Given the description of an element on the screen output the (x, y) to click on. 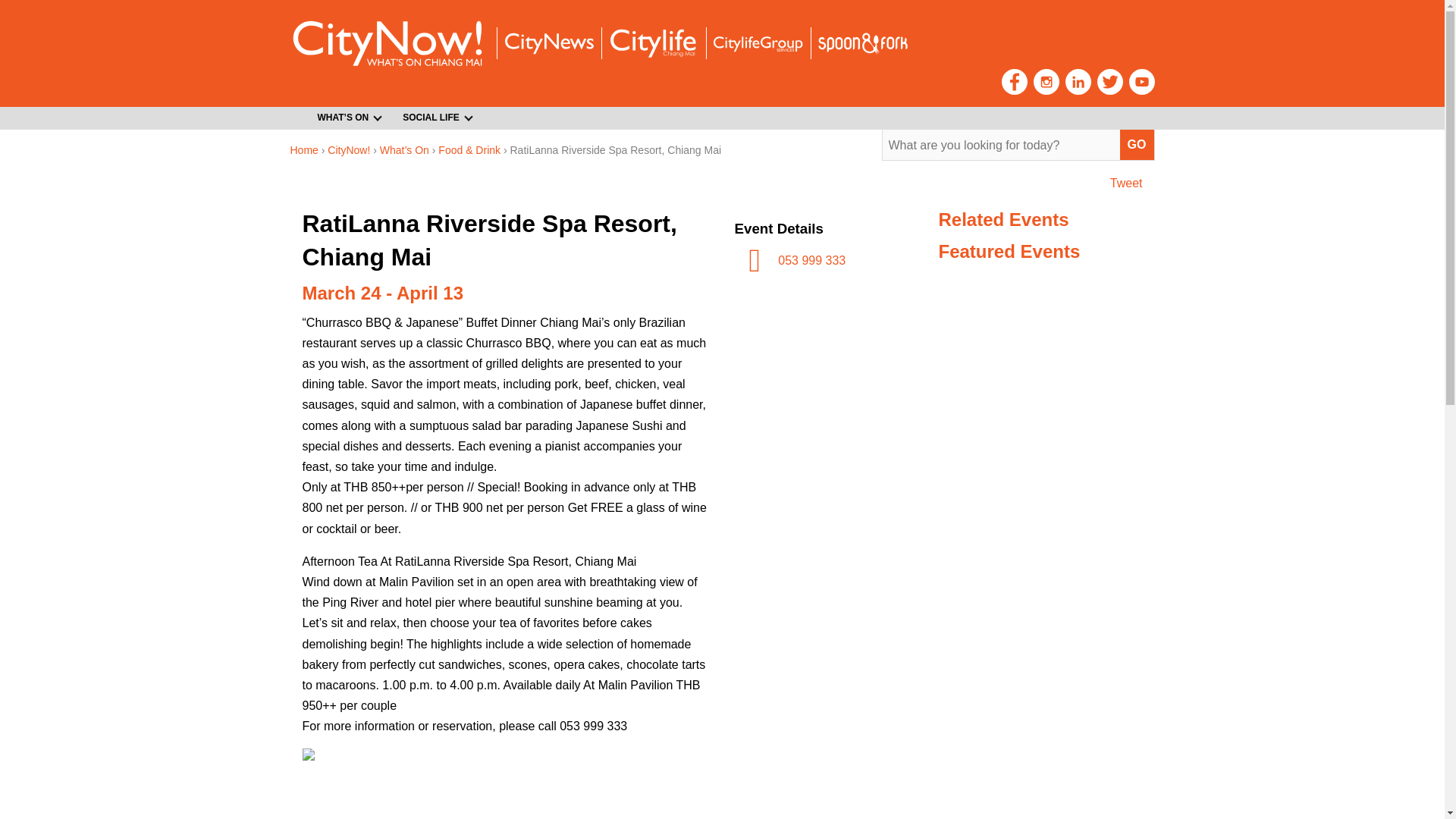
SOCIAL LIFE (432, 118)
CityNow! - What's on Chiang Mai (386, 43)
Chiang Mai Citylife (652, 42)
CityNews (548, 43)
Go (1136, 144)
Go (1136, 144)
Citylife Group Services (757, 43)
